Given the description of an element on the screen output the (x, y) to click on. 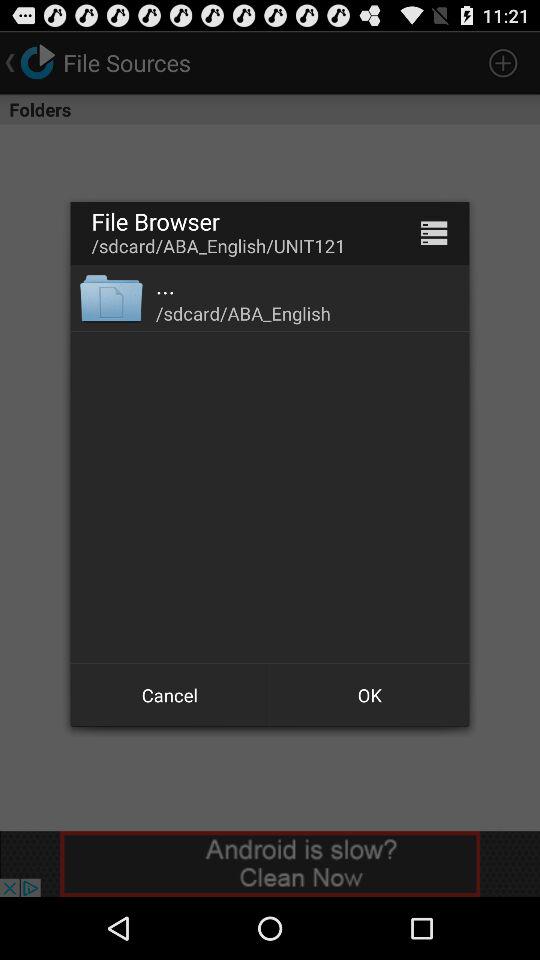
press the ... app (165, 285)
